Given the description of an element on the screen output the (x, y) to click on. 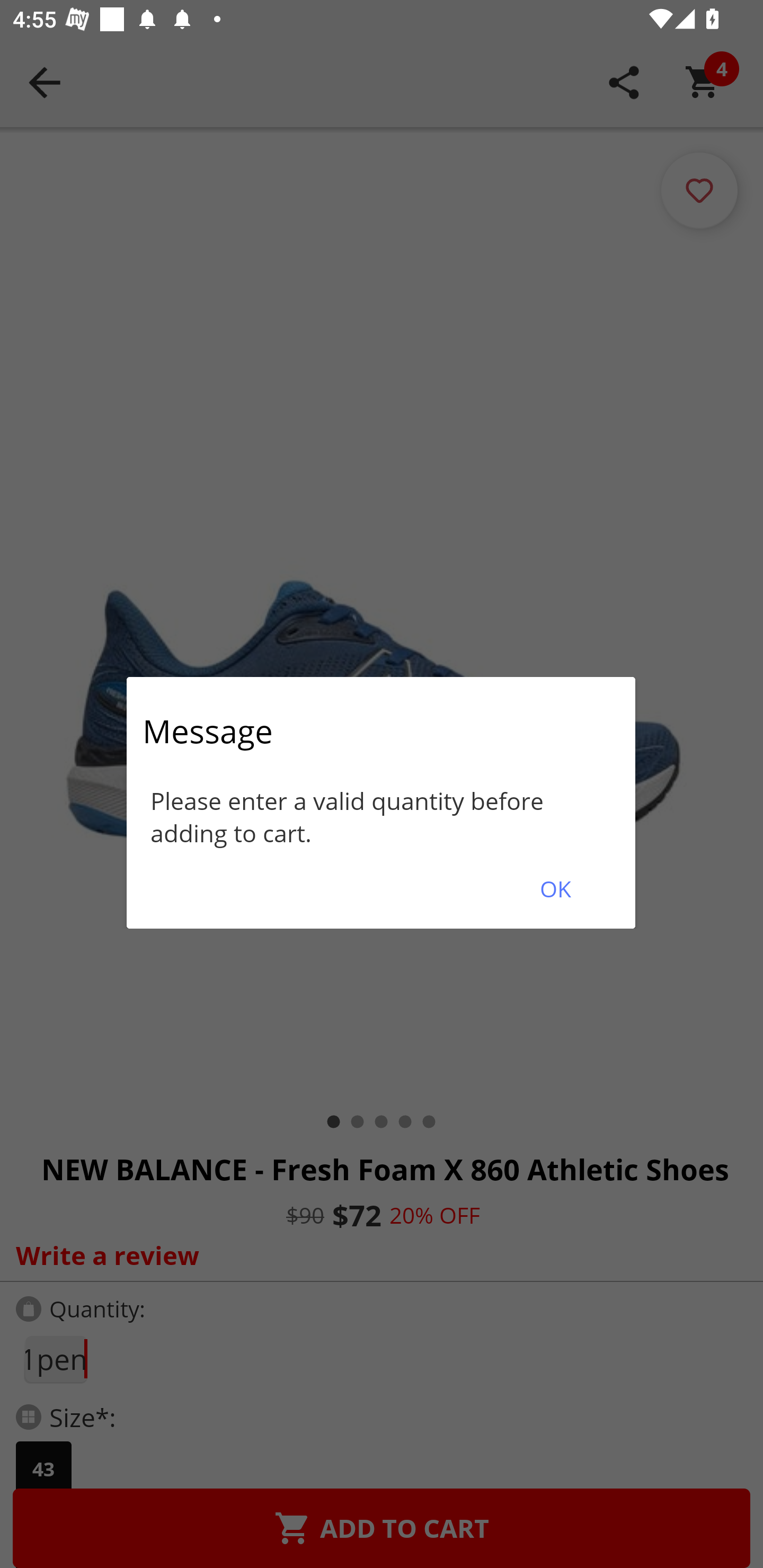
OK (555, 888)
